Given the description of an element on the screen output the (x, y) to click on. 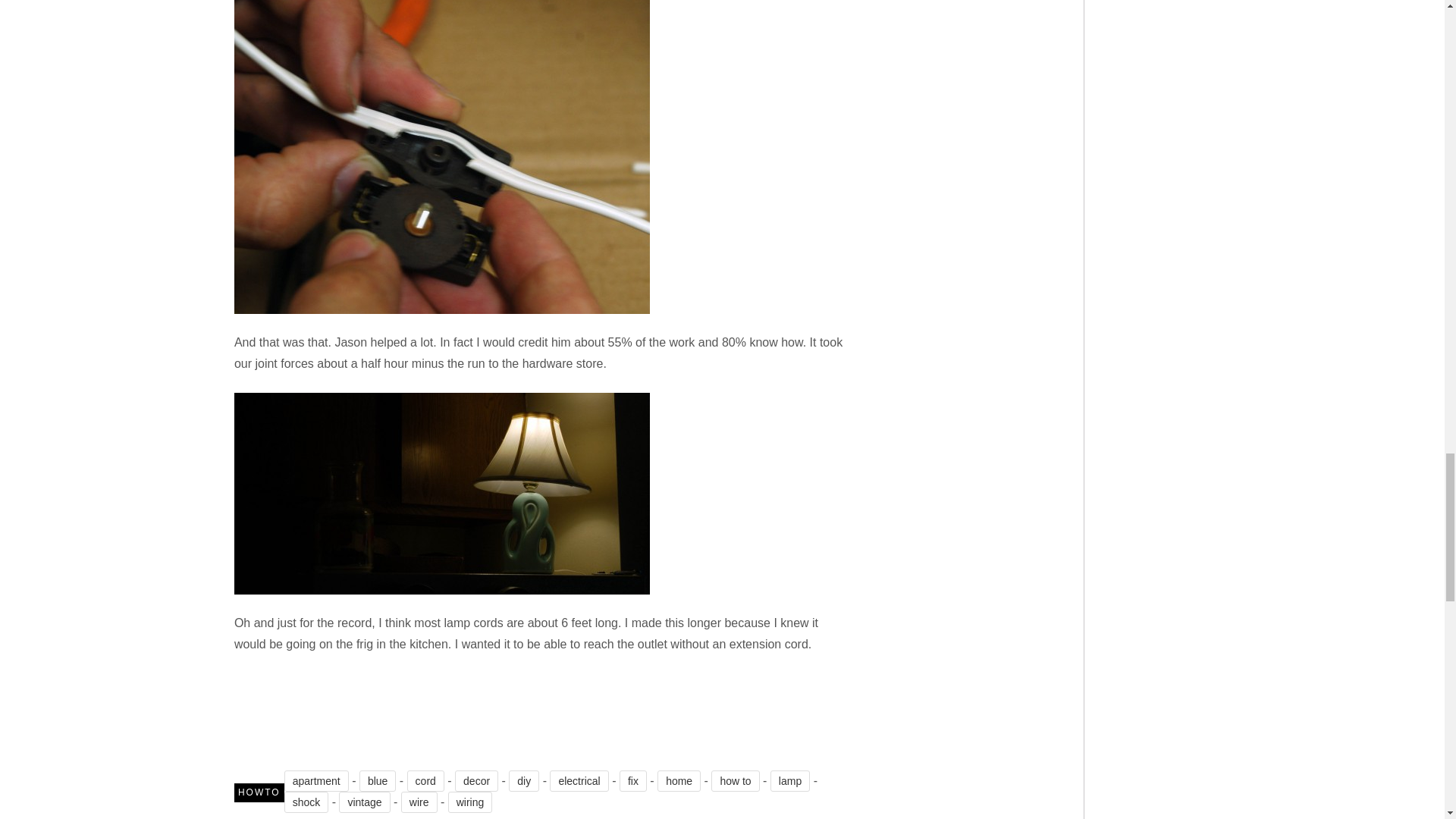
electrical (579, 780)
diy (523, 780)
apartment (316, 780)
decor (475, 780)
blue (377, 780)
HOWTO (258, 792)
cord (425, 780)
fix (633, 780)
